Given the description of an element on the screen output the (x, y) to click on. 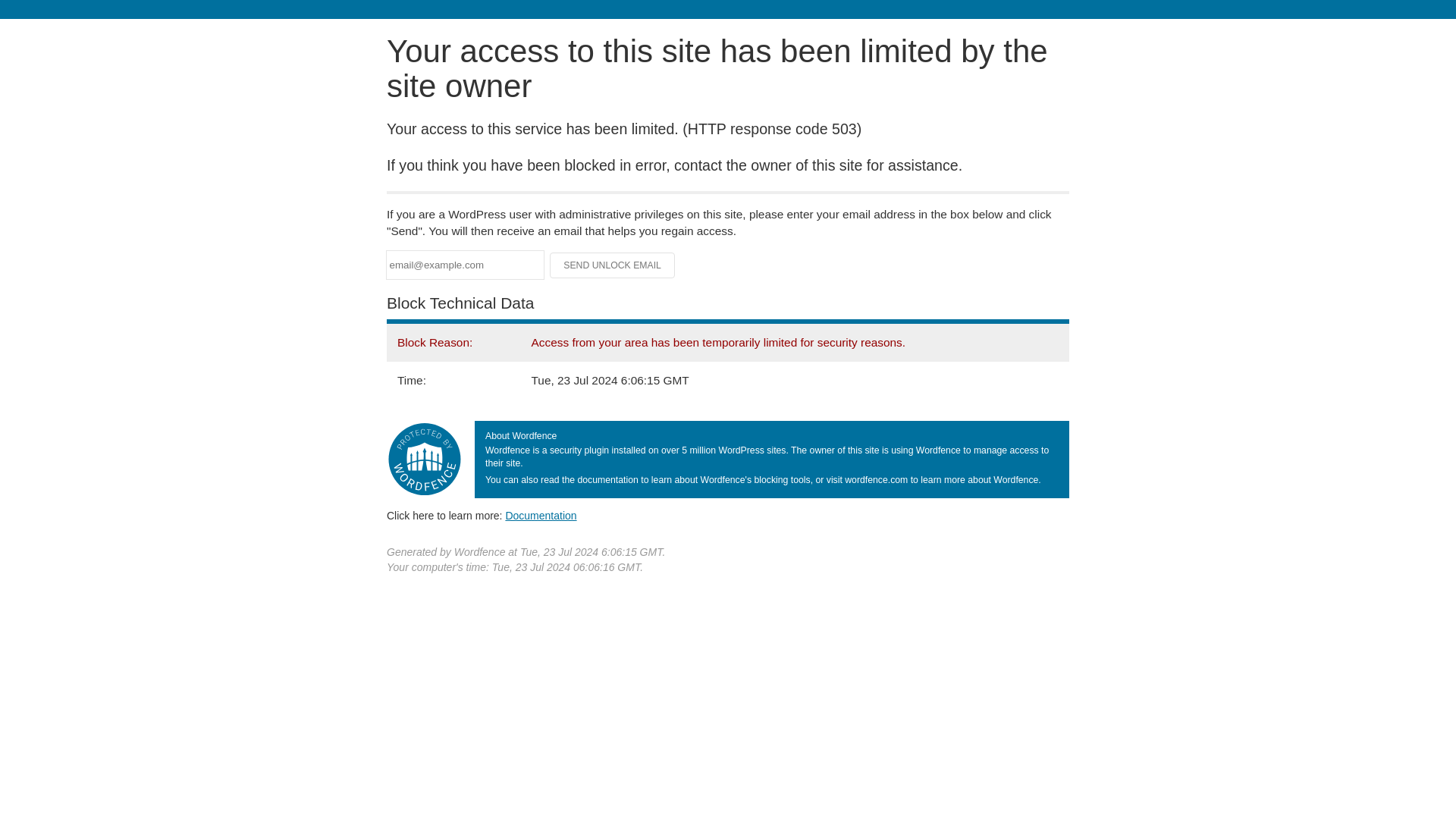
Send Unlock Email (612, 265)
Send Unlock Email (612, 265)
Documentation (540, 515)
